Given the description of an element on the screen output the (x, y) to click on. 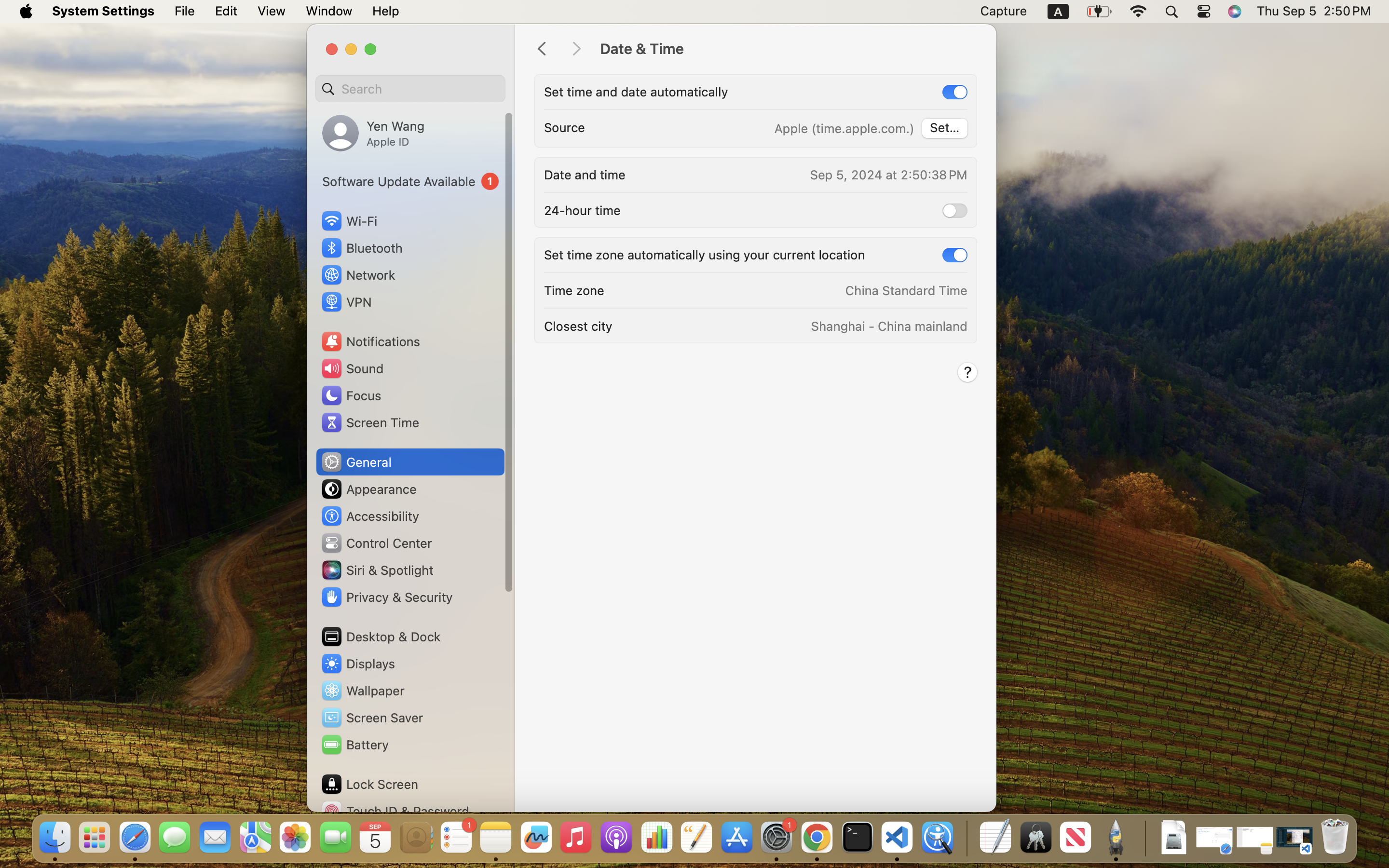
Yen Wang, Apple ID Element type: AXStaticText (373, 132)
Set time zone automatically using your current location Element type: AXStaticText (704, 254)
Source Element type: AXStaticText (564, 127)
